Given the description of an element on the screen output the (x, y) to click on. 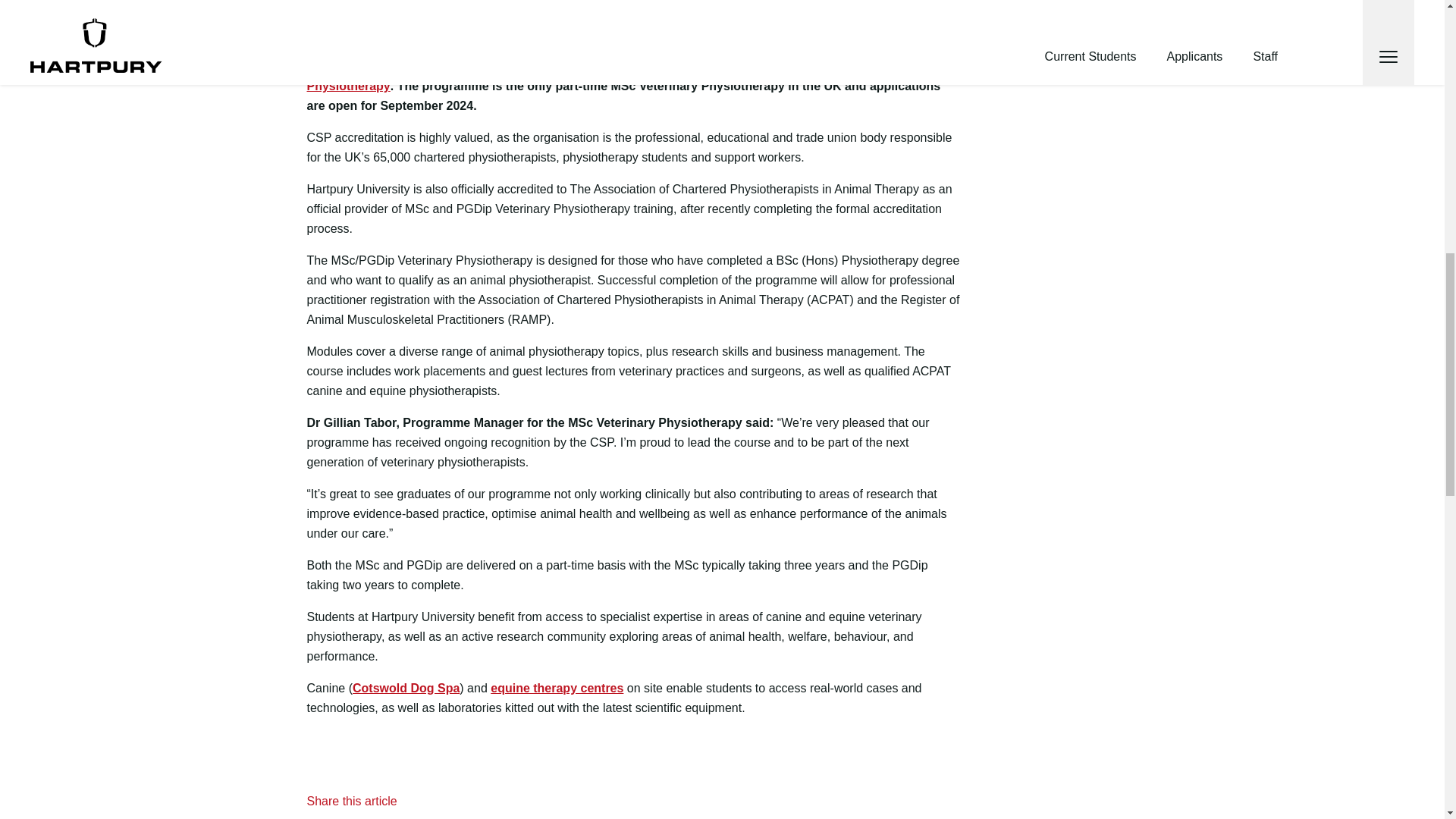
Cotswold Dog Spa (406, 687)
equine therapy centres (556, 687)
